Given the description of an element on the screen output the (x, y) to click on. 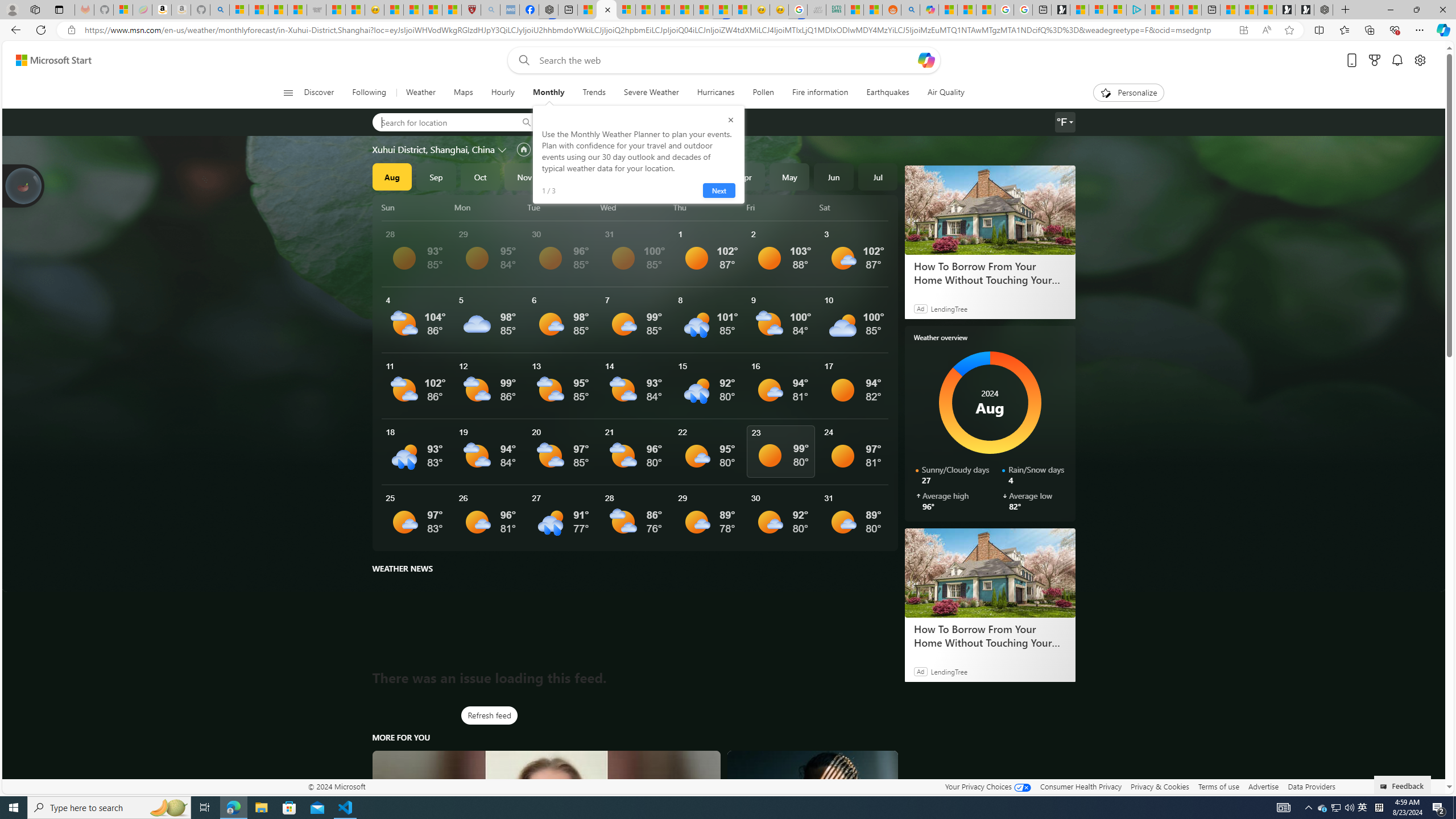
Your Privacy Choices (987, 786)
Class: feedback_link_icon-DS-EntryPoint1-1 (1384, 786)
How To Borrow From Your Home Without Touching Your Mortgage (988, 635)
Play Free Online Games | Games from Microsoft Start (1304, 9)
May (789, 176)
Microsoft Start Gaming (1060, 9)
Feb (657, 176)
